Given the description of an element on the screen output the (x, y) to click on. 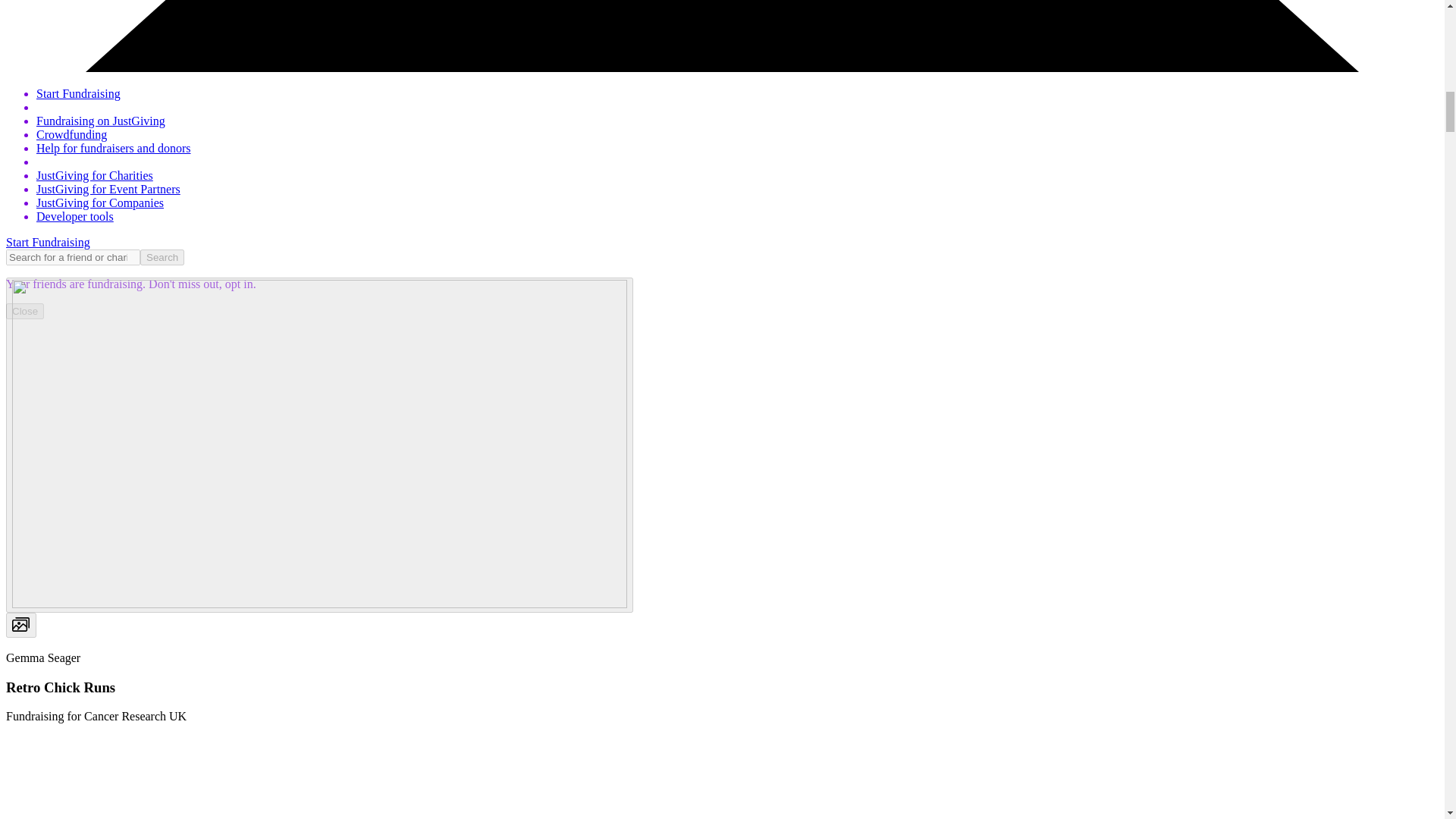
Search (161, 257)
JustGiving for Companies (99, 202)
JustGiving for Event Partners (108, 188)
Fundraising on JustGiving (100, 120)
Start Fundraising (47, 241)
Close (24, 311)
JustGiving for Charities (94, 174)
opt in. (239, 283)
Developer tools (74, 215)
Start Fundraising (78, 92)
